Given the description of an element on the screen output the (x, y) to click on. 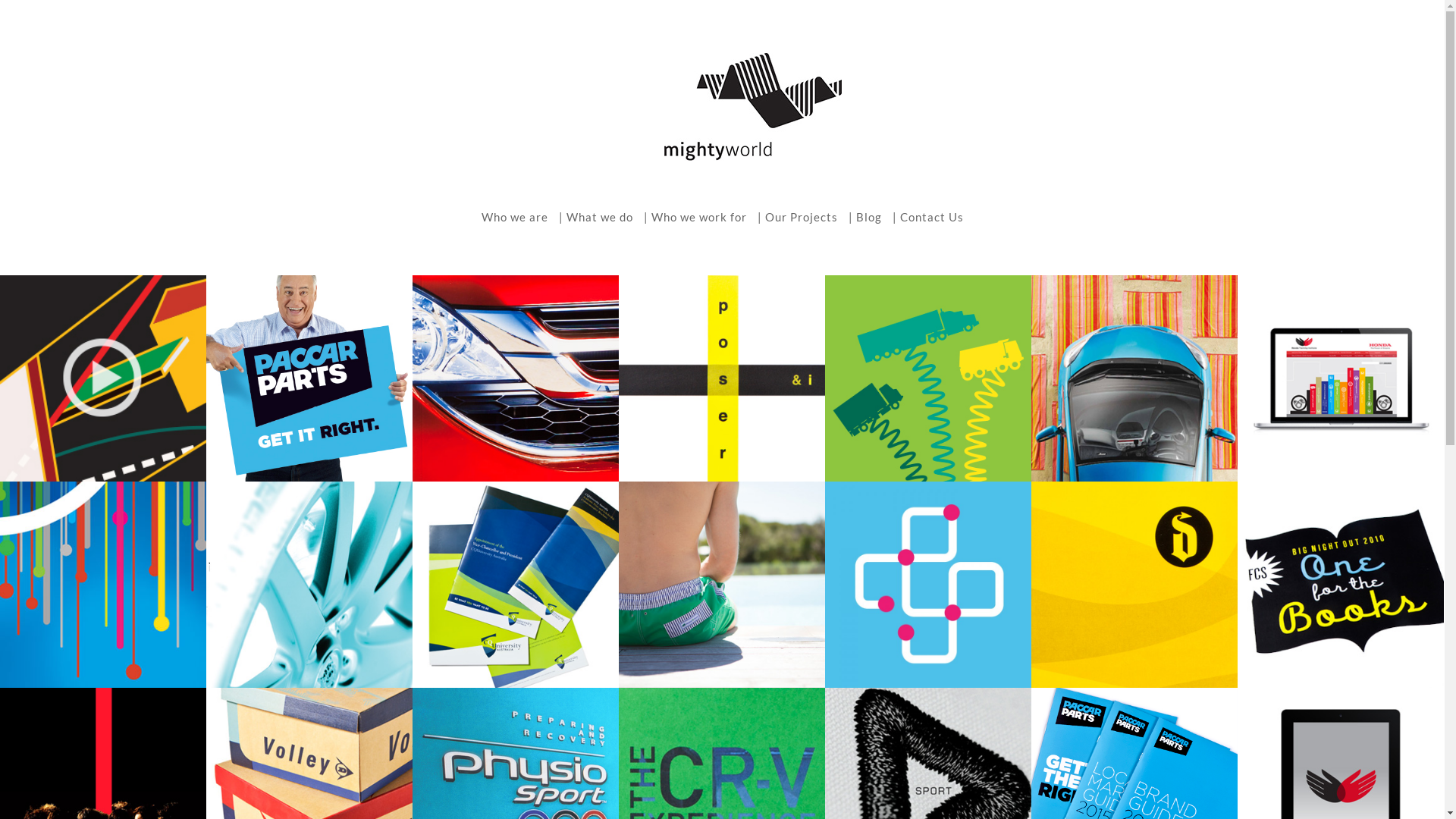
Poser & I Element type: hover (721, 378)
| Contact Us Element type: text (927, 216)
| Our Projects Element type: text (796, 216)
PACCAR Parts Launch Campaign Element type: hover (309, 378)
Fitzroy Community School Element type: hover (1340, 584)
CQUniversity Element type: hover (515, 584)
Malkin & Toad Element type: hover (721, 584)
Drayko Element type: hover (1134, 584)
| Who we work for Element type: text (694, 216)
mightyworld Element type: hover (722, 110)
Honda Jazz Element type: hover (1134, 378)
Mighty Motion Element type: hover (103, 378)
Honda Training Element type: hover (1340, 378)
| What we do Element type: text (595, 216)
Honda 100 Stories Element type: hover (103, 584)
Jaguar Element type: hover (309, 584)
Who we are Element type: text (513, 216)
mightyworld Element type: hover (722, 106)
| Blog Element type: text (864, 216)
Honda Magazine Element type: hover (515, 378)
Freelance Pharma Element type: hover (928, 584)
ALLRig Element type: hover (928, 378)
